Given the description of an element on the screen output the (x, y) to click on. 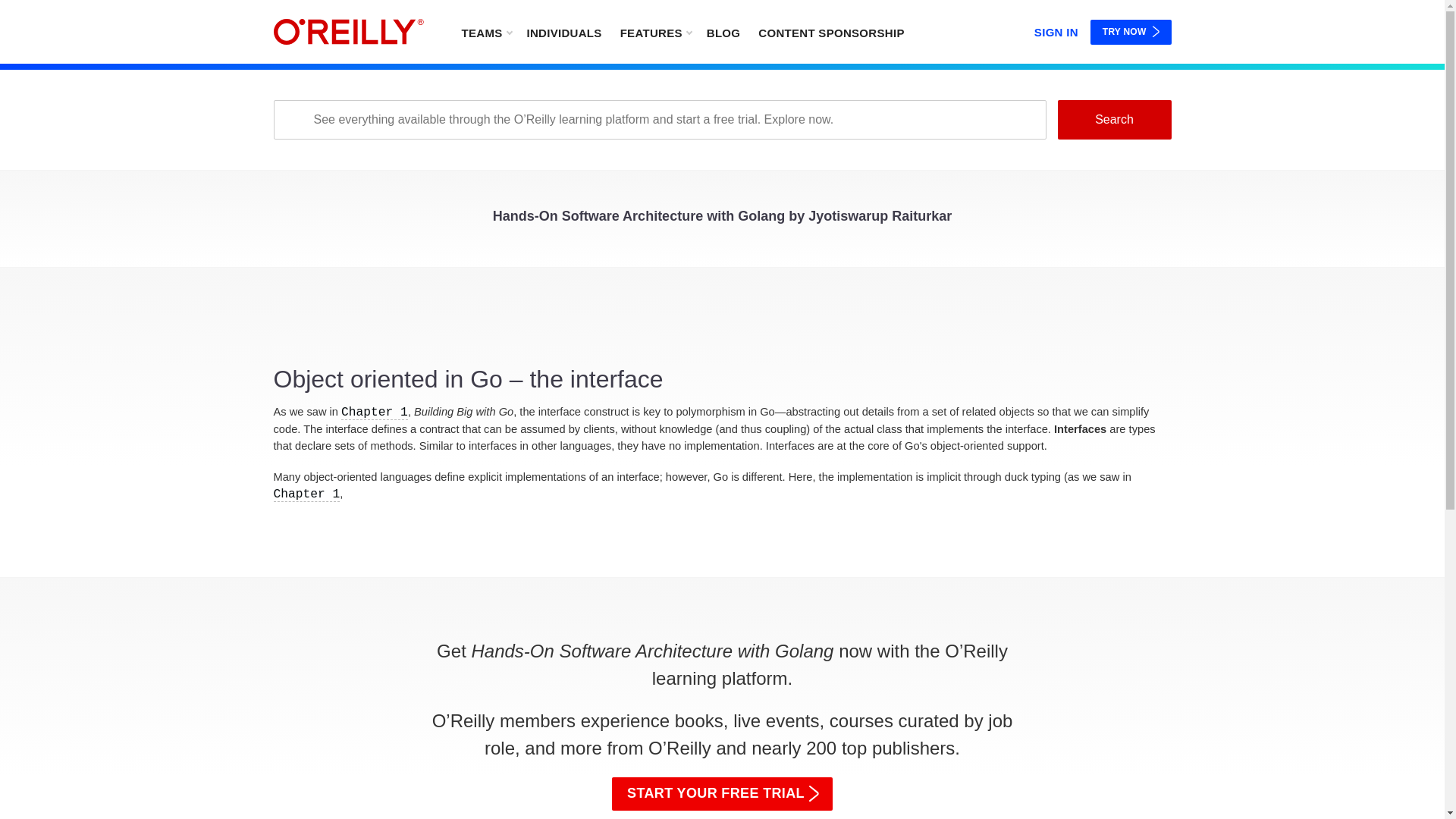
Chapter 1 (373, 412)
BLOG (723, 31)
FEATURES (655, 31)
Chapter 1 (306, 494)
Search (1113, 119)
TRY NOW (1131, 32)
START YOUR FREE TRIAL (721, 793)
CONTENT SPONSORSHIP (831, 31)
SIGN IN (1055, 29)
TEAMS (486, 31)
